Given the description of an element on the screen output the (x, y) to click on. 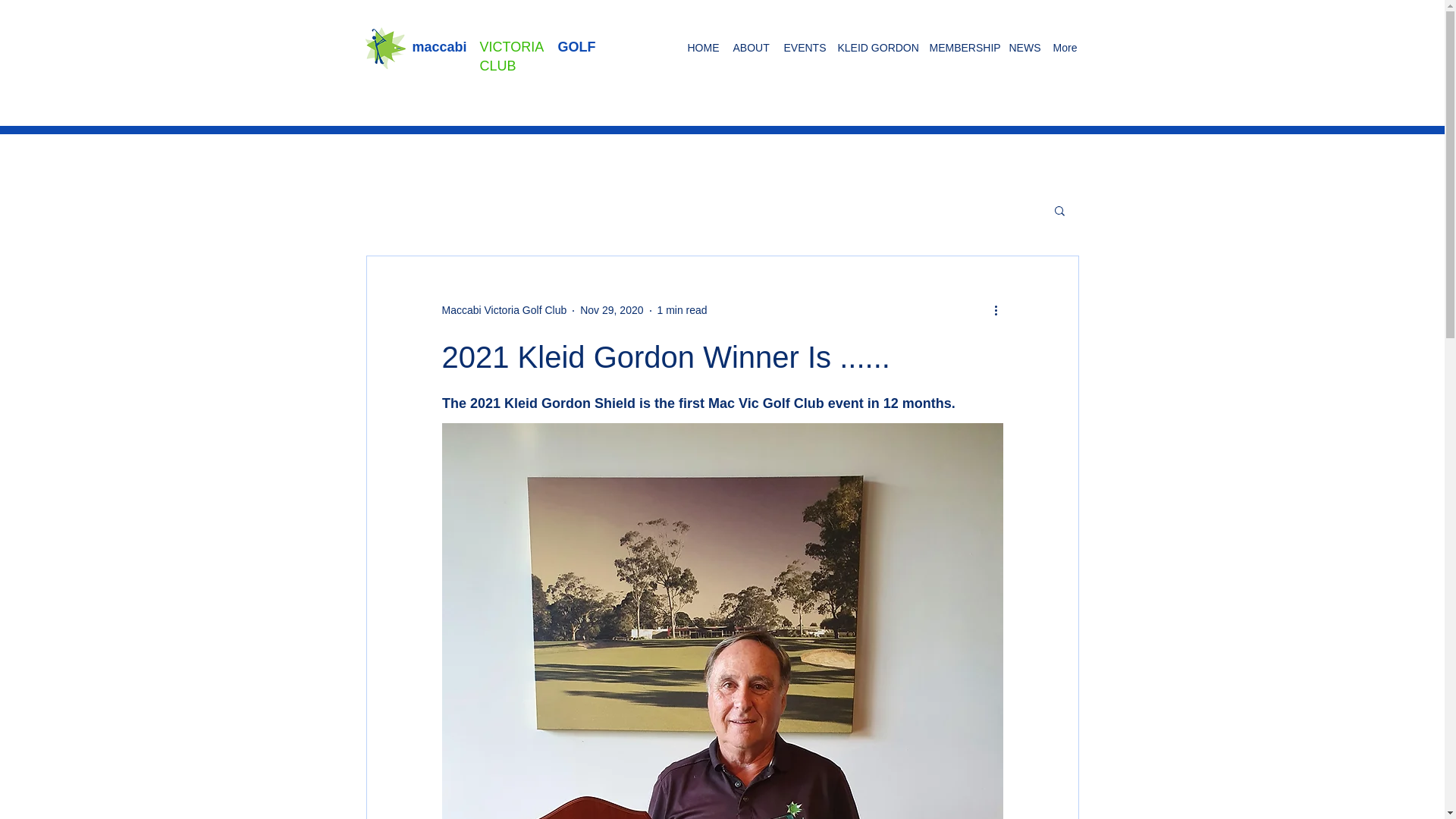
GOLF   (580, 46)
Maccabi Victoria Golf Club (503, 310)
1 min read (681, 309)
NEWS (1023, 47)
KLEID GORDON (875, 47)
MEMBERSHIP (961, 47)
HOME (702, 47)
Nov 29, 2020 (611, 309)
EVENTS (802, 47)
